Given the description of an element on the screen output the (x, y) to click on. 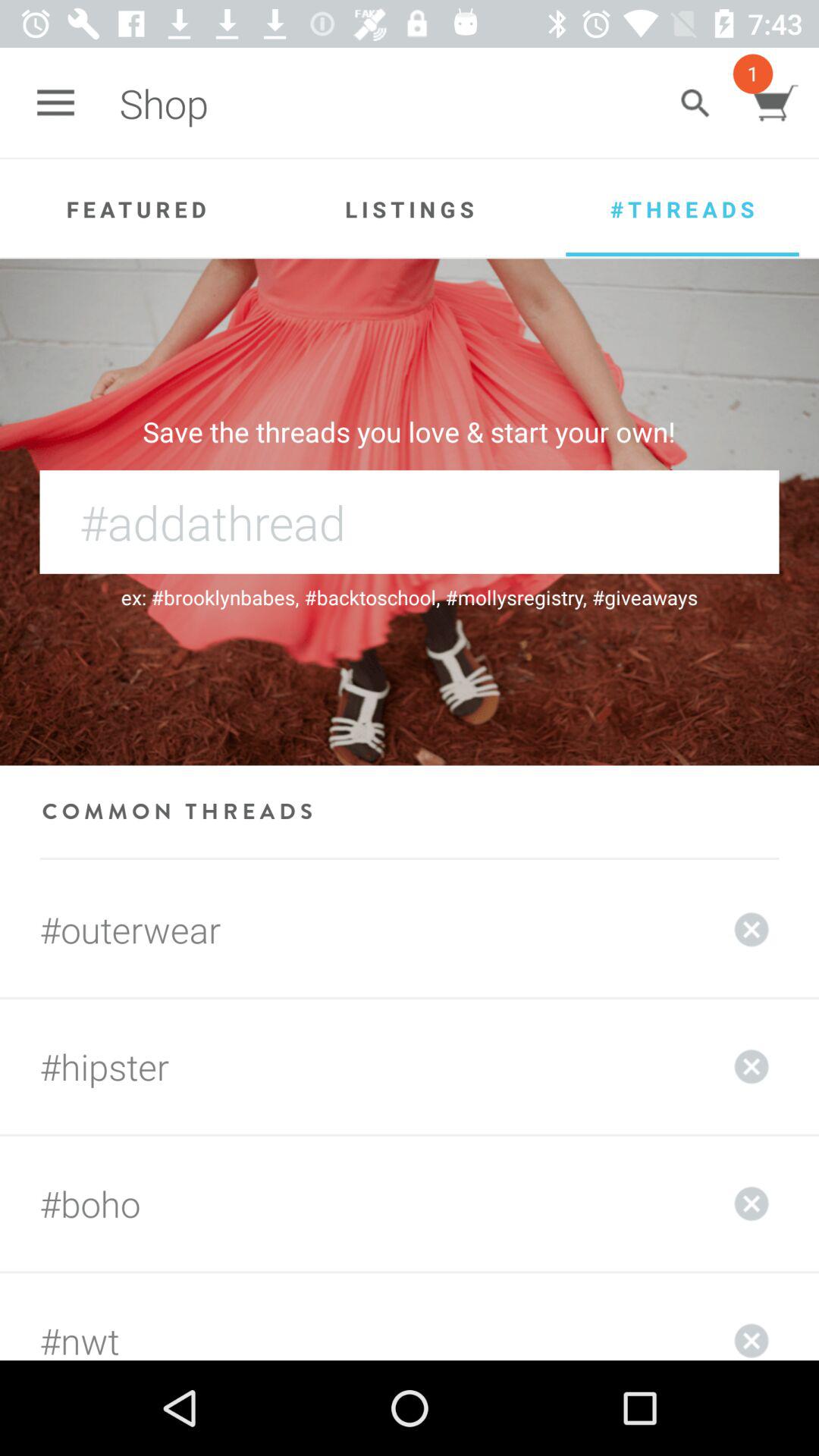
enter the thread name (409, 521)
